Given the description of an element on the screen output the (x, y) to click on. 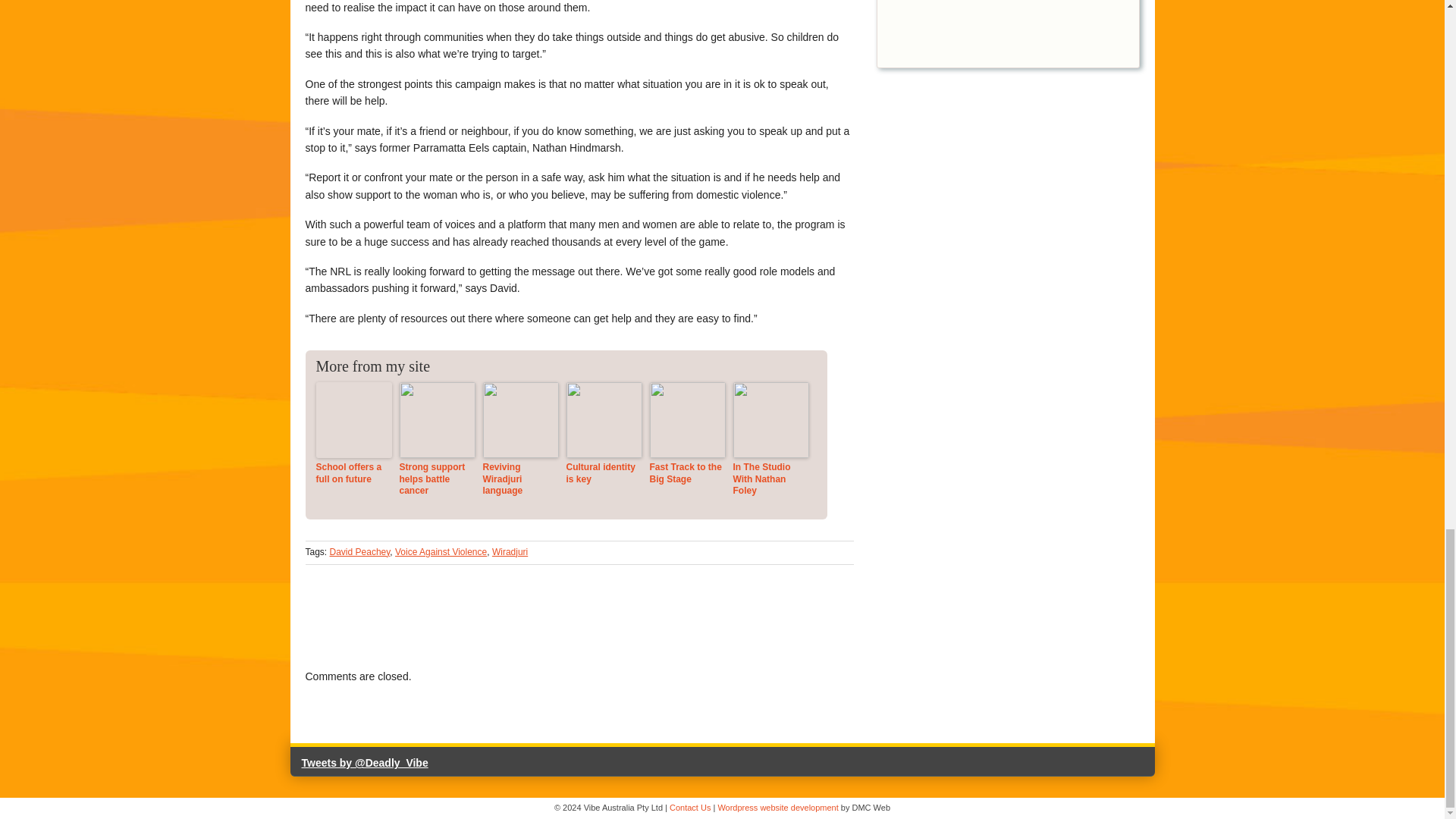
Voice Against Violence (440, 552)
Wiradjuri (509, 552)
Cultural identity is key (604, 473)
Reviving Wiradjuri language (519, 479)
Fast Track to the Big Stage (687, 473)
David Peachey (360, 552)
In The Studio With Nathan Foley (770, 479)
Strong support helps battle cancer (436, 479)
School offers a full on future (353, 473)
